Given the description of an element on the screen output the (x, y) to click on. 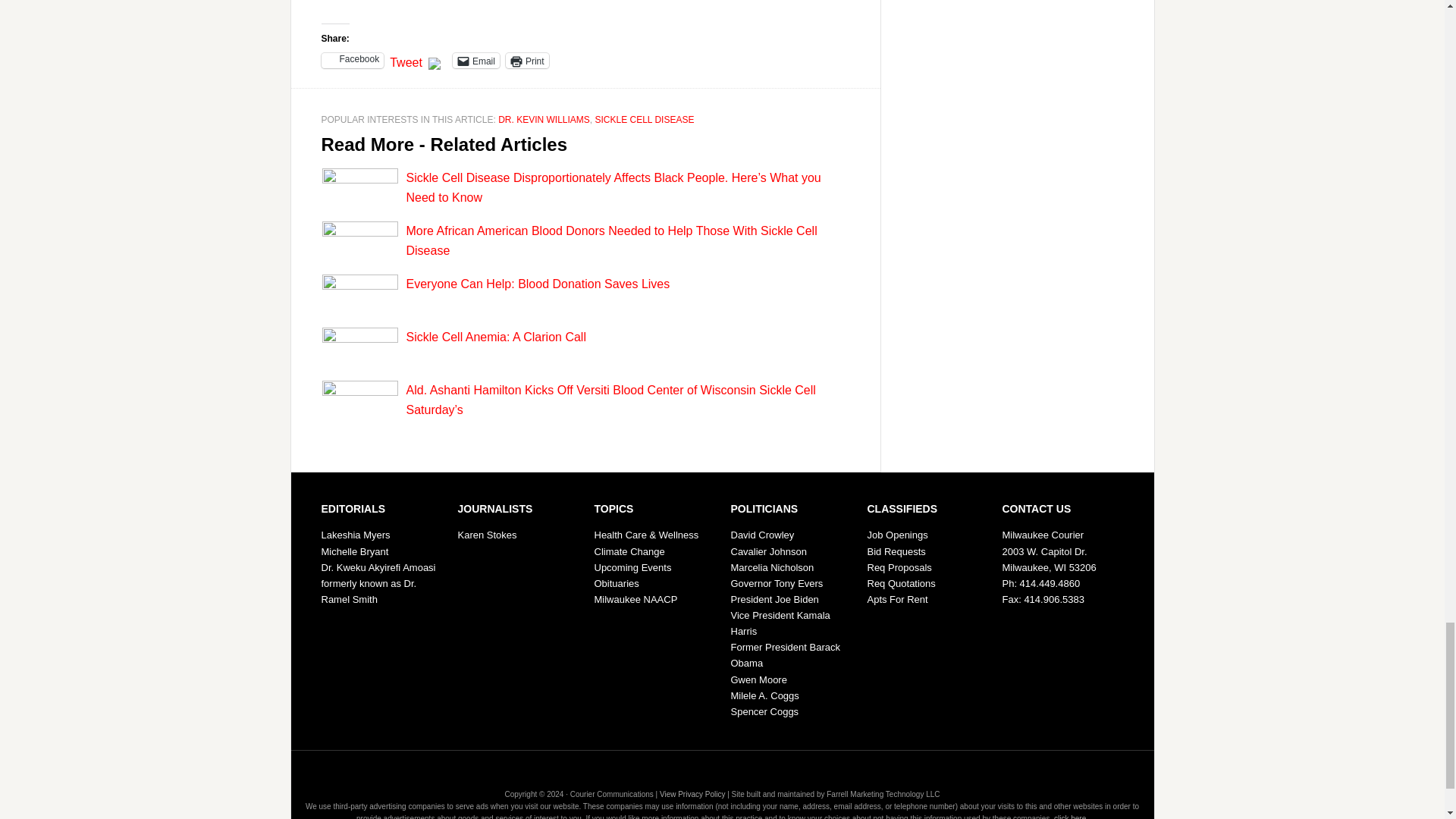
Everyone Can Help: Blood Donation Saves Lives (537, 283)
Everyone Can Help: Blood Donation Saves Lives (537, 283)
Facebook (352, 60)
Click to print (526, 60)
Email (475, 60)
SICKLE CELL DISEASE (644, 119)
Click to share on Facebook (352, 60)
Sickle Cell Anemia: A Clarion Call (496, 336)
Print (526, 60)
Sickle Cell Anemia: A Clarion Call (496, 336)
DR. KEVIN WILLIAMS (543, 119)
Click to email a link to a friend (475, 60)
Tweet (406, 59)
